Given the description of an element on the screen output the (x, y) to click on. 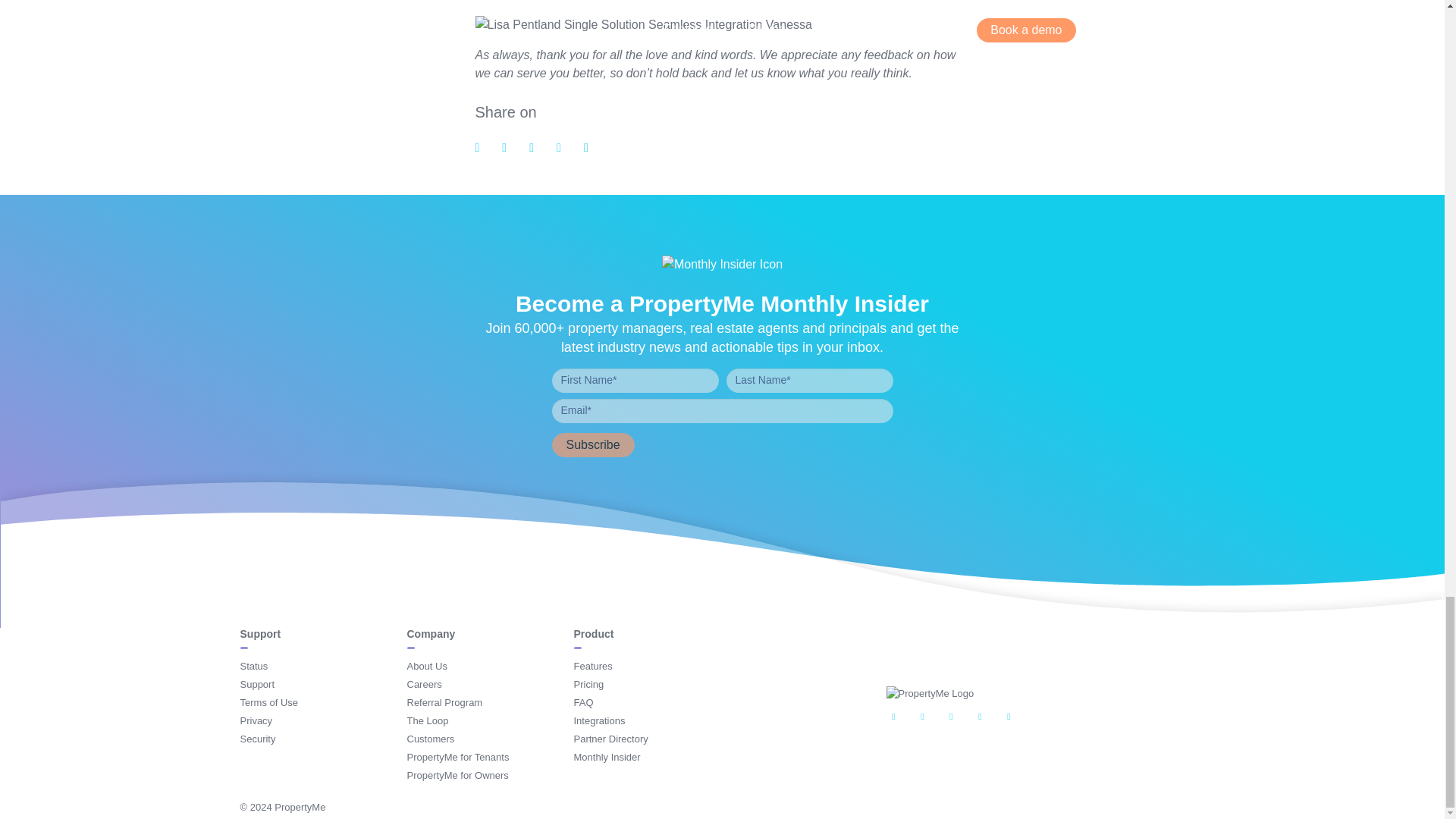
Partner Directory (610, 738)
Referral Program (443, 702)
The Loop (427, 720)
Customers (430, 738)
Monthly Insider (606, 756)
About Us (426, 665)
Subscribe (592, 445)
Integrations (598, 720)
FAQ (582, 702)
Careers (423, 684)
Pricing (588, 684)
Features (592, 665)
